Given the description of an element on the screen output the (x, y) to click on. 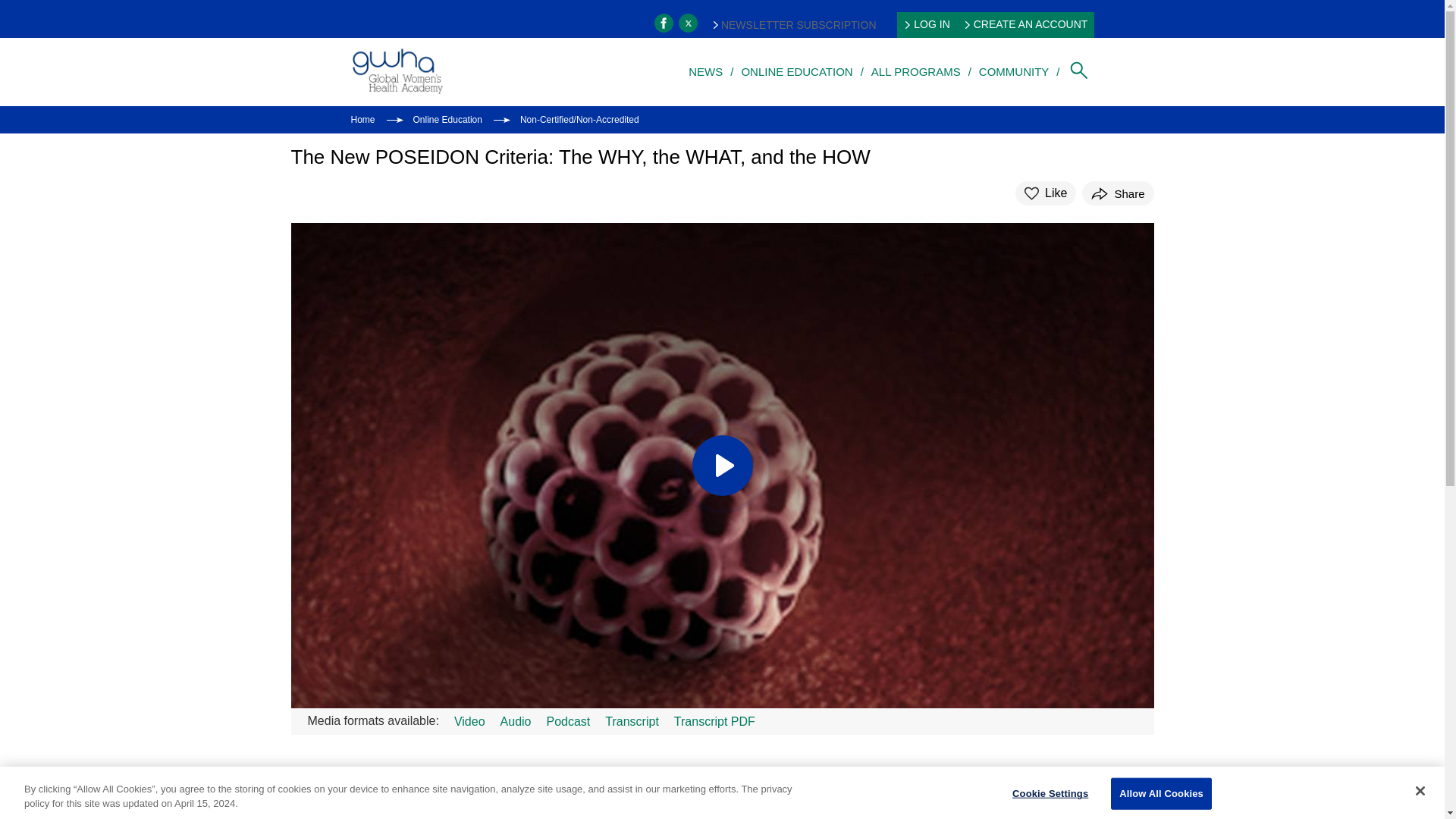
Global Women's Health Academy (396, 71)
COMMUNITY (1013, 71)
ALL PROGRAMS (915, 71)
LOG IN (927, 24)
NEWS (705, 71)
ONLINE EDUCATION (796, 71)
Twitter (687, 22)
CREATE AN ACCOUNT (1026, 24)
NEWSLETTER SUBSCRIPTION (794, 24)
